Given the description of an element on the screen output the (x, y) to click on. 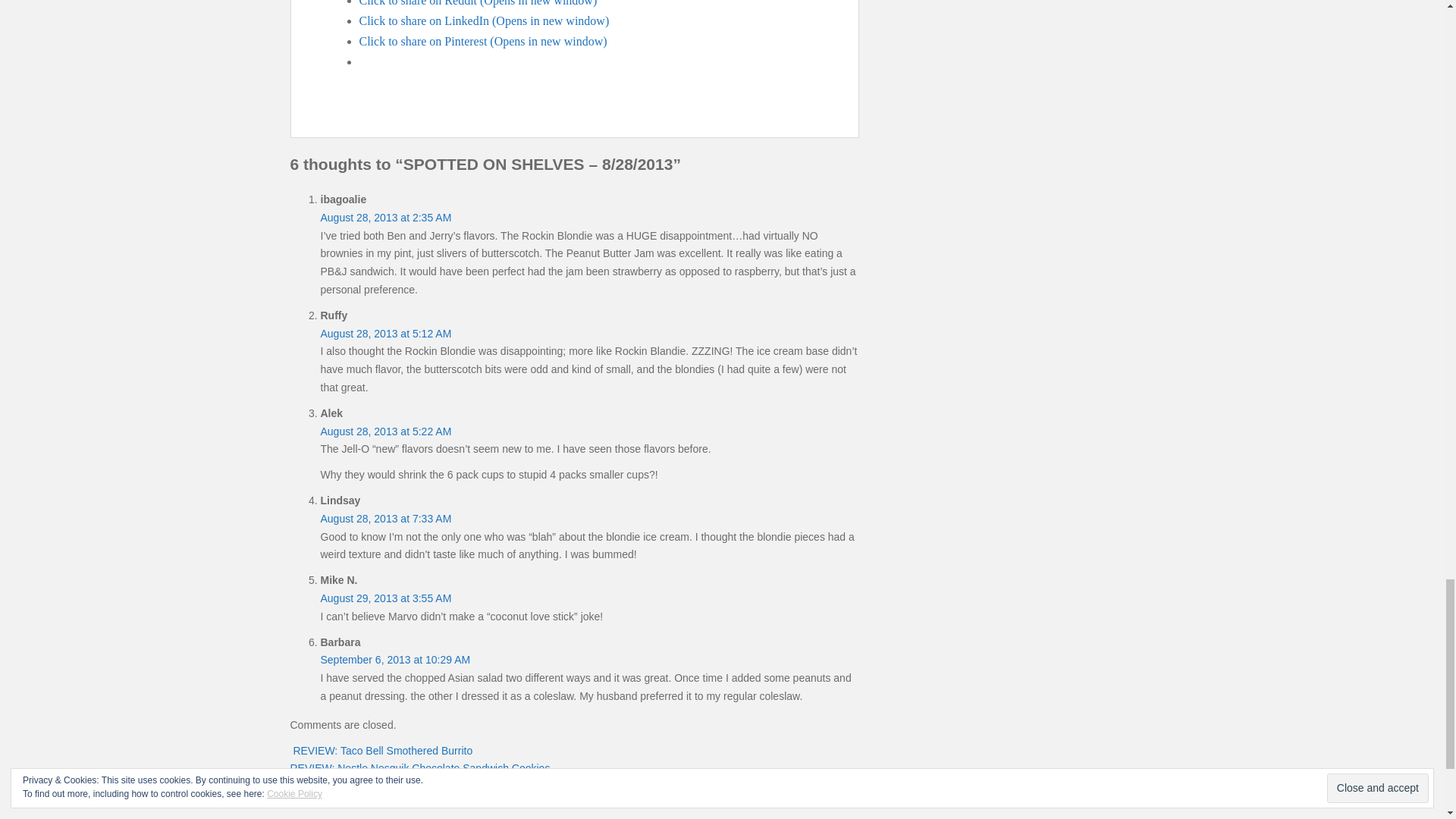
August 28, 2013 at 5:12 AM (385, 333)
August 29, 2013 at 3:55 AM (385, 598)
August 28, 2013 at 2:35 AM (385, 217)
REVIEW: Taco Bell Smothered Burrito (380, 750)
August 28, 2013 at 7:33 AM (385, 518)
August 28, 2013 at 5:22 AM (385, 431)
September 6, 2013 at 10:29 AM (395, 659)
REVIEW: Nestle Nesquik Chocolate Sandwich Cookies (421, 767)
